Given the description of an element on the screen output the (x, y) to click on. 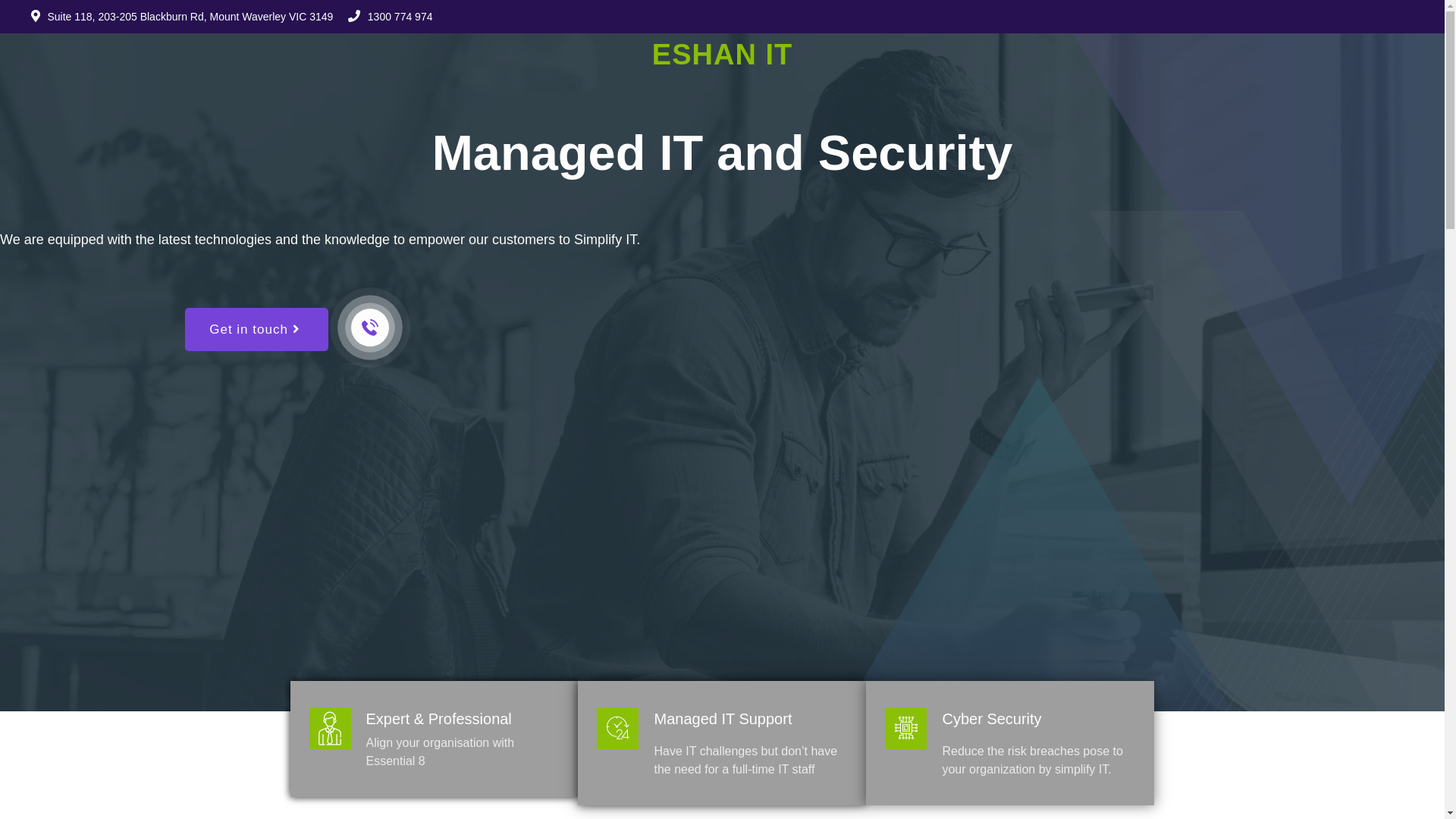
Get in touch Element type: text (256, 329)
1300 774 974 Element type: text (400, 16)
